Given the description of an element on the screen output the (x, y) to click on. 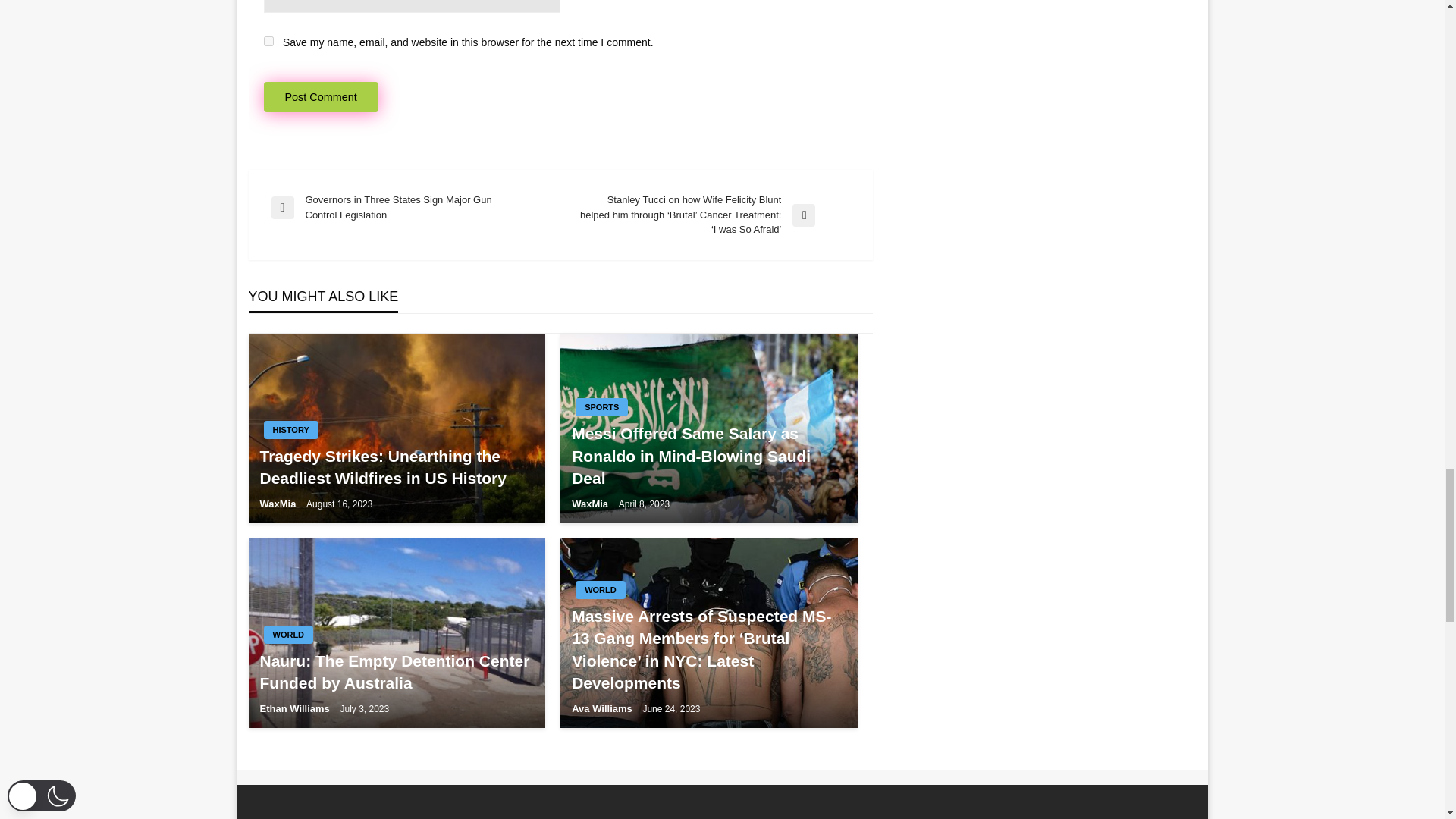
Post Comment (320, 97)
yes (268, 40)
